Given the description of an element on the screen output the (x, y) to click on. 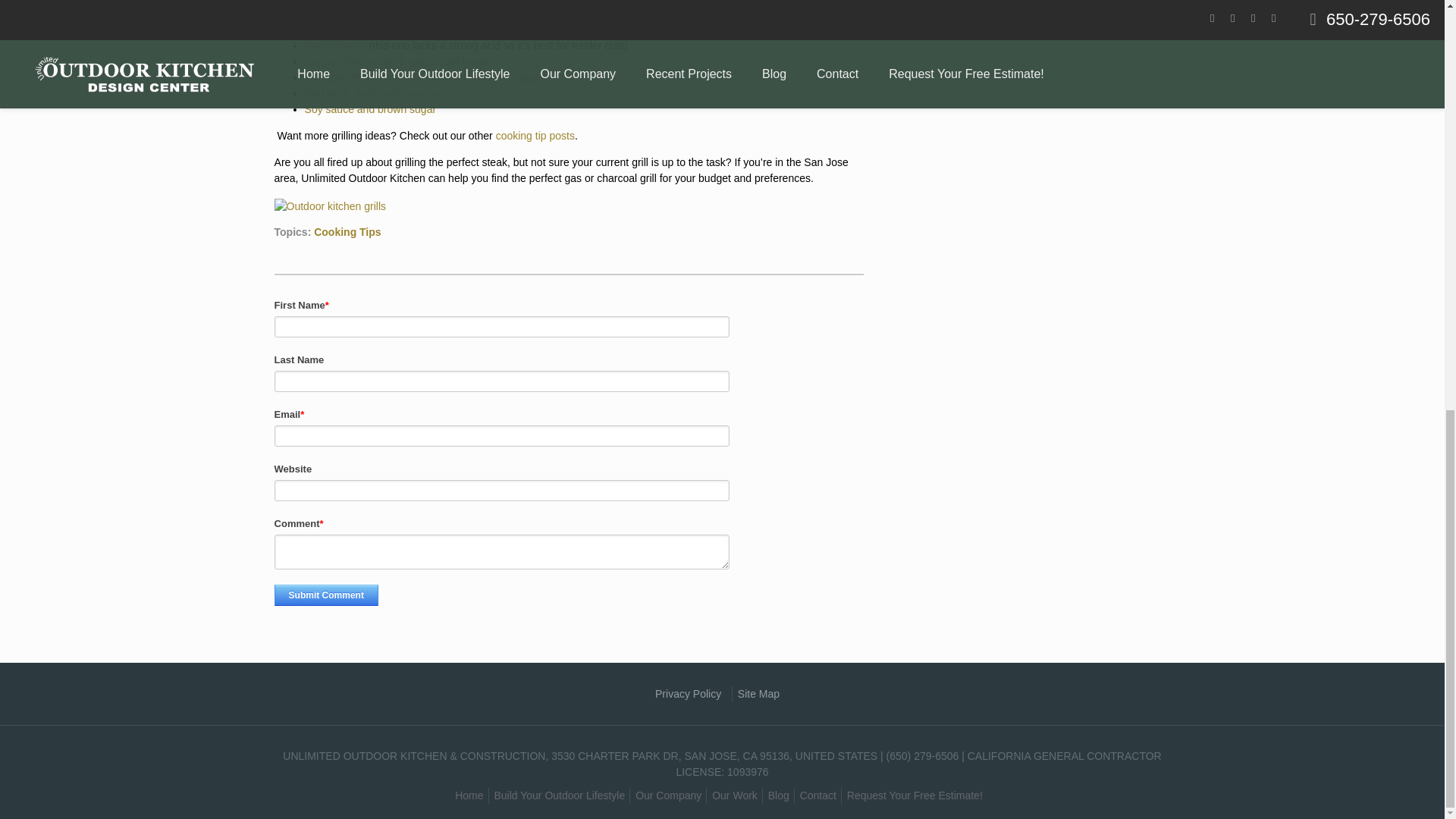
Submit Comment (326, 595)
